Given the description of an element on the screen output the (x, y) to click on. 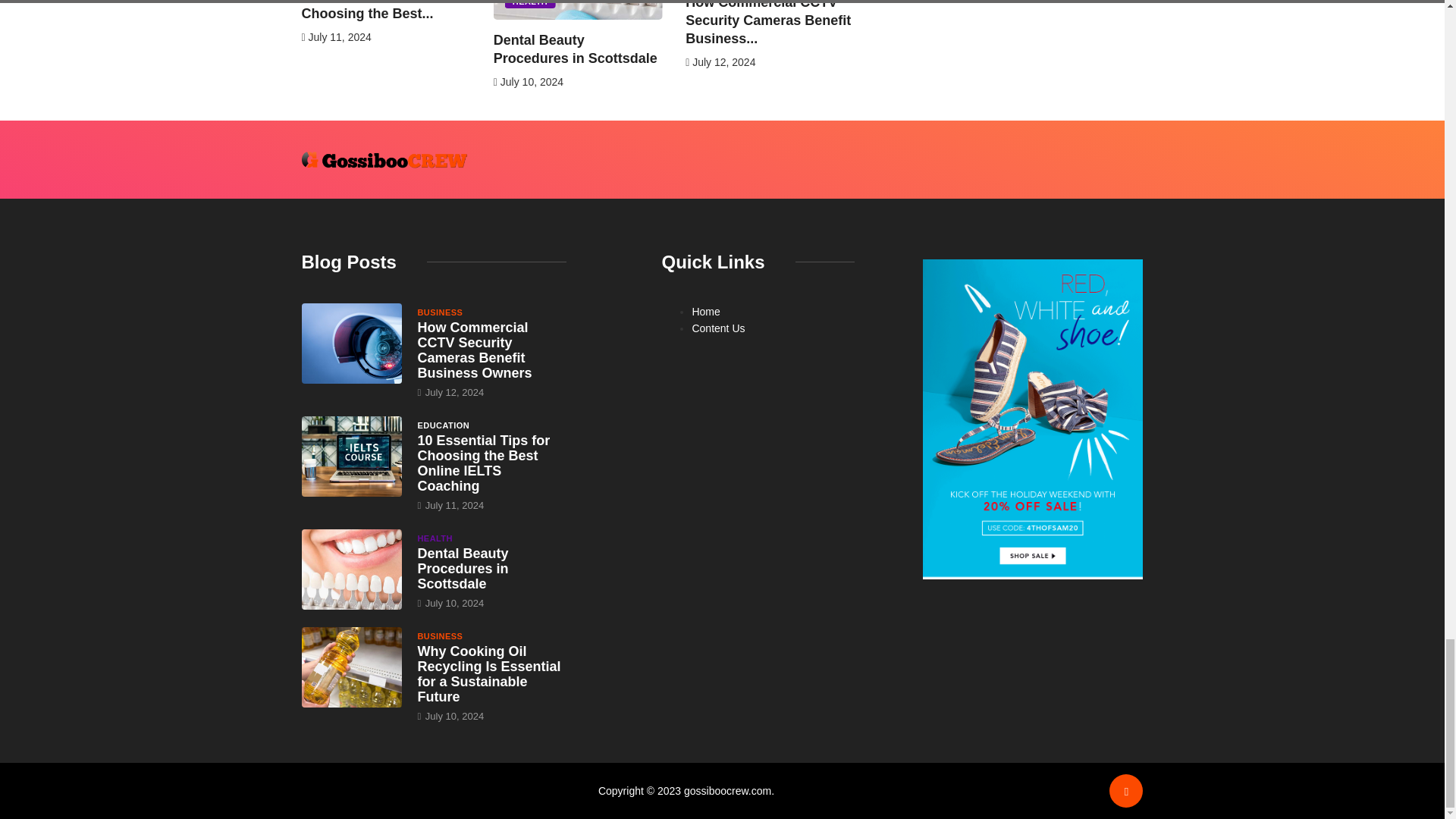
How Commercial CCTV Security Cameras Benefit Business Owners (352, 343)
Dental Beauty Procedures in Scottsdale (462, 568)
Dental Beauty Procedures in Scottsdale (352, 569)
How Commercial CCTV Security Cameras Benefit Business Owners (473, 350)
